Given the description of an element on the screen output the (x, y) to click on. 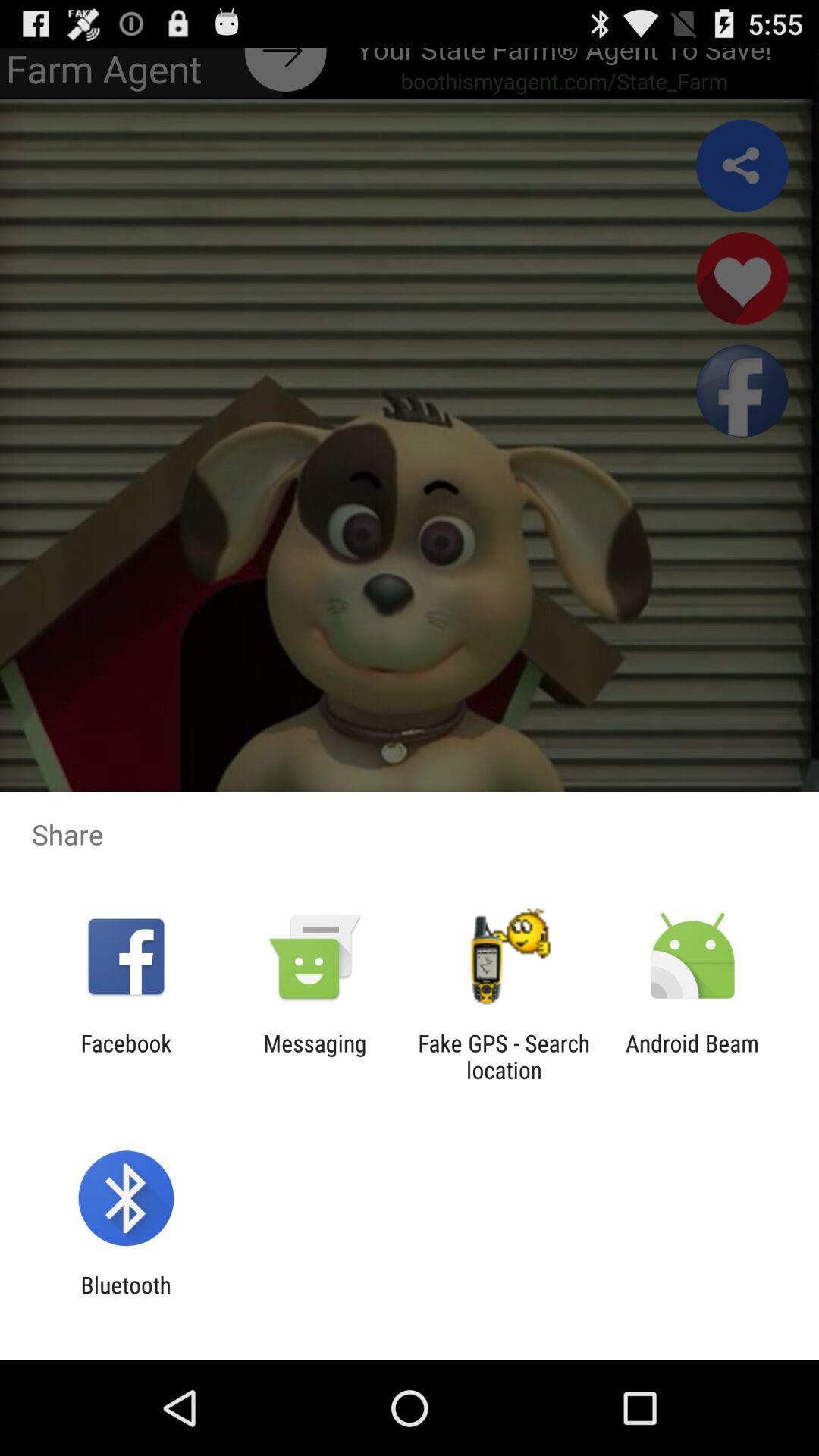
select the item to the left of fake gps search (314, 1056)
